Given the description of an element on the screen output the (x, y) to click on. 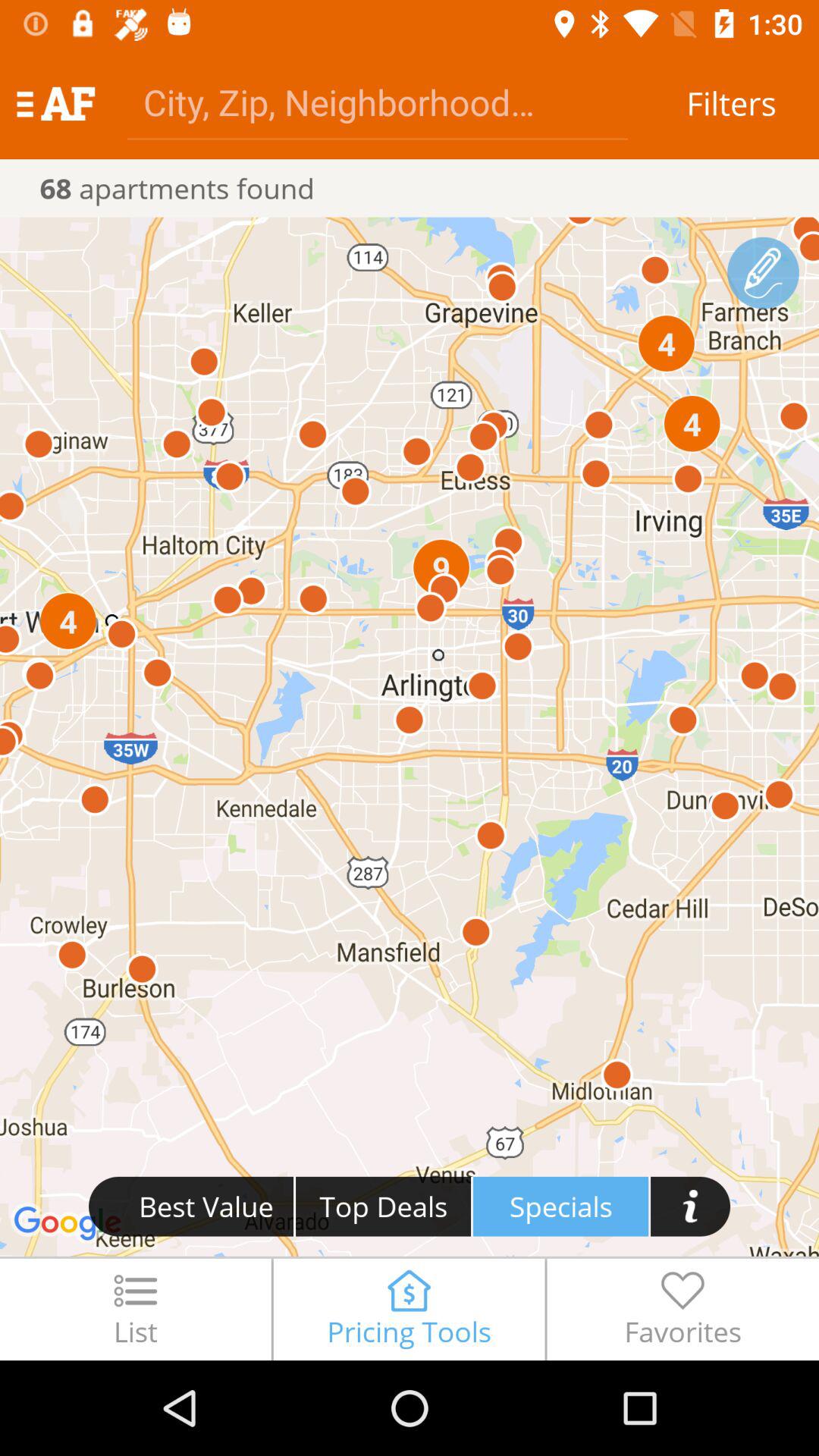
launch the filters (731, 103)
